Given the description of an element on the screen output the (x, y) to click on. 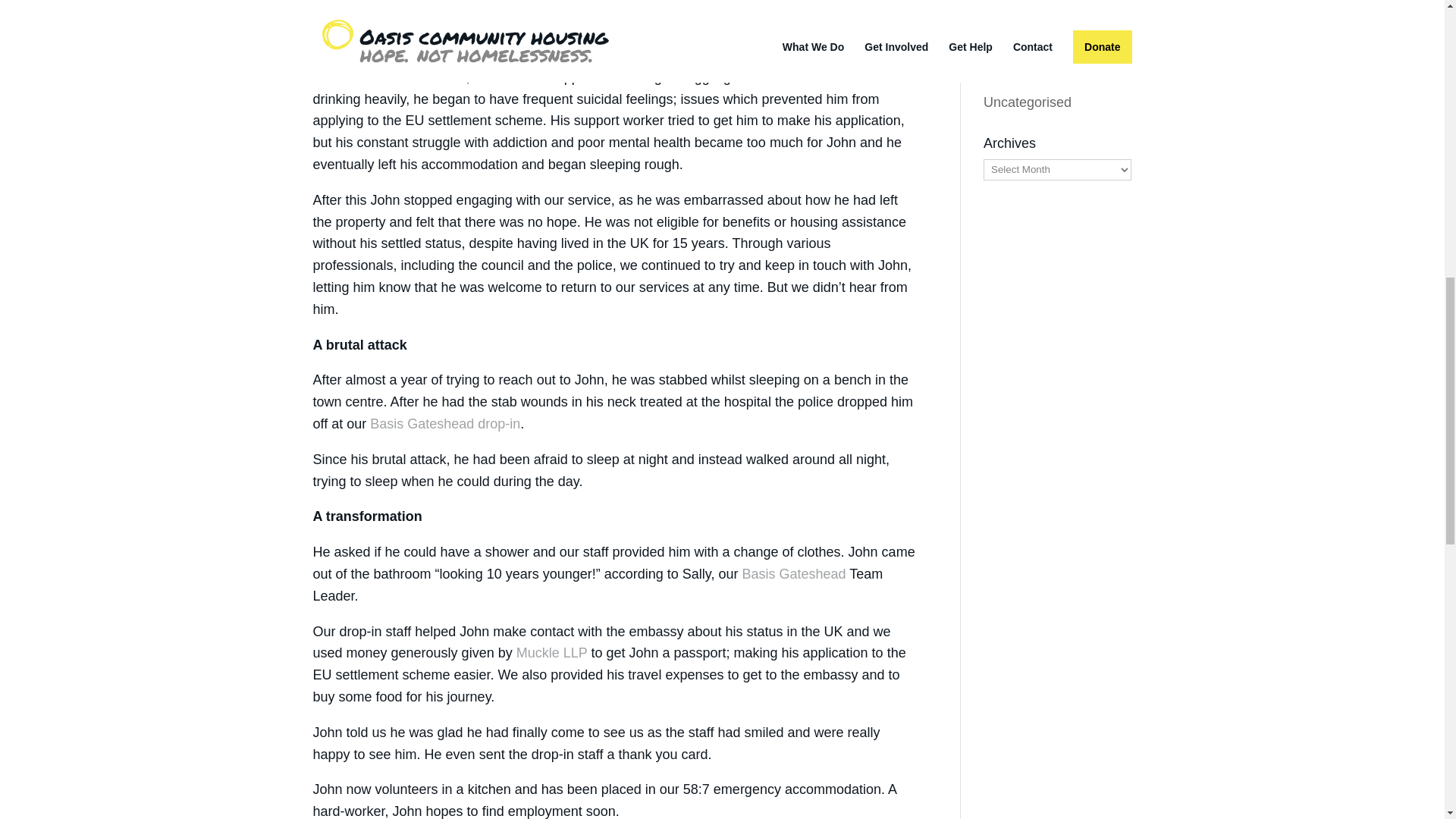
Statements (1018, 45)
Trustees (1009, 73)
Basis Gateshead (793, 573)
Basis Gateshead drop-in (444, 423)
Muckle LLP (552, 652)
Partnerships (1021, 16)
